Given the description of an element on the screen output the (x, y) to click on. 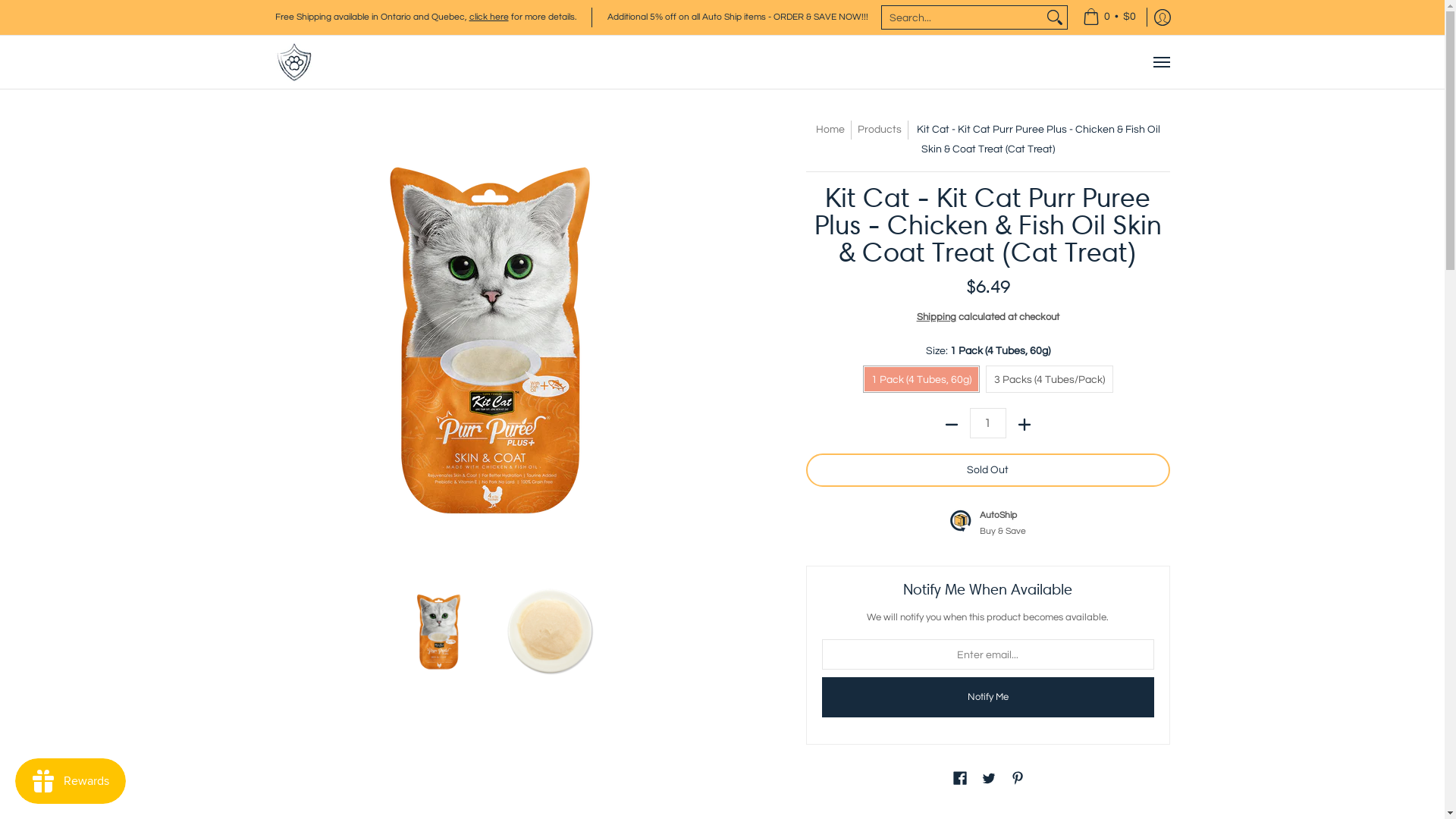
Skip to Main Content Element type: text (1, 9)
Notify Me Element type: text (988, 697)
Sold Out Element type: text (988, 469)
ARMOR THE POOCH Element type: hover (293, 61)
AutoShip
Buy & Save Element type: text (987, 520)
Smile.io Rewards Program Launcher Element type: hover (70, 780)
Pinterest Element type: hover (1017, 780)
Log in Element type: hover (1161, 17)
Twitter Element type: hover (988, 780)
Skip to Main Content Element type: text (276, 128)
Facebook Element type: hover (959, 780)
Products Element type: text (879, 129)
Shipping Element type: text (936, 317)
click here Element type: text (488, 16)
Home Element type: text (829, 129)
